Given the description of an element on the screen output the (x, y) to click on. 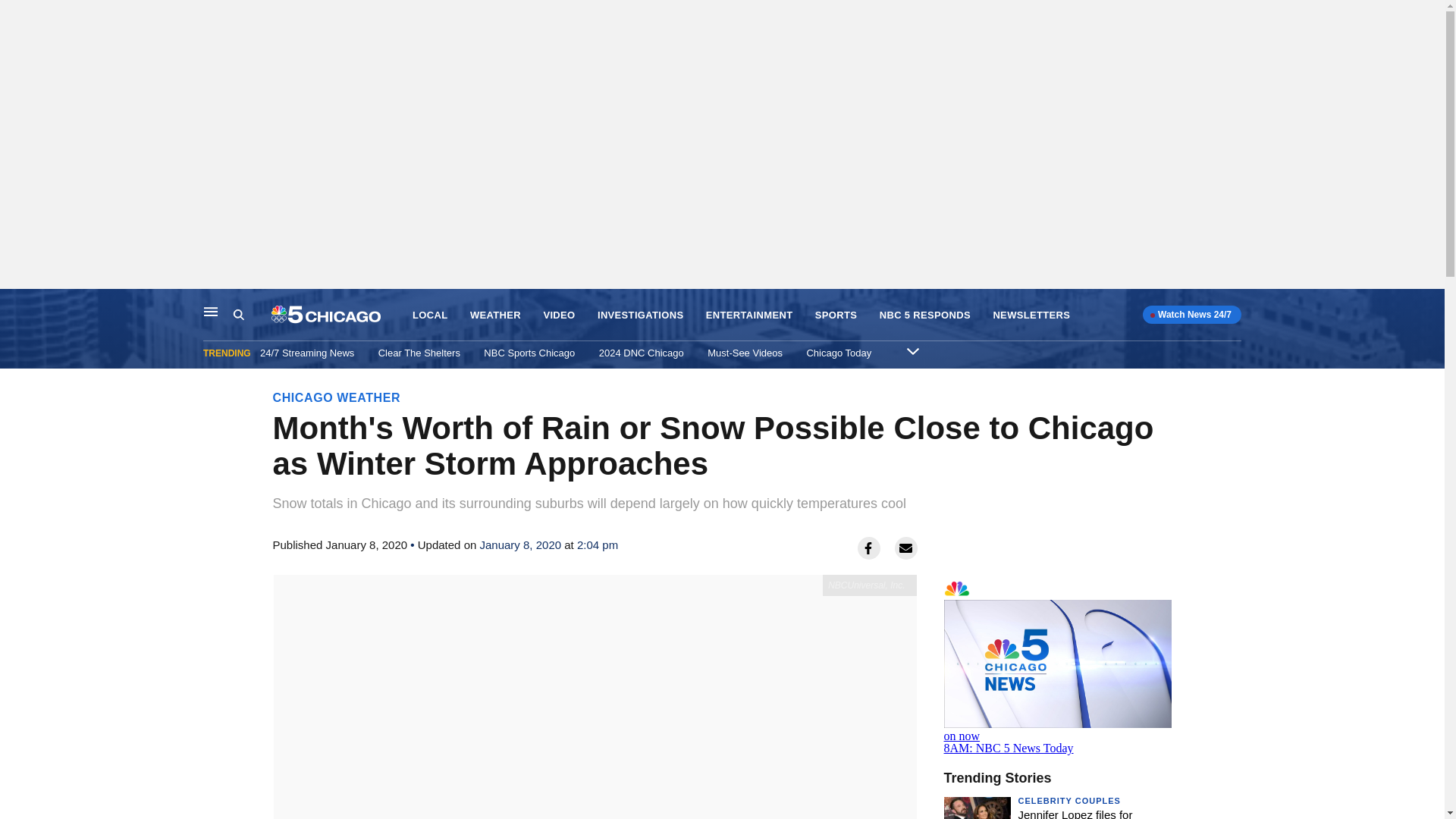
NEWSLETTERS (1031, 315)
NBC 5 RESPONDS (925, 315)
Main Navigation (210, 311)
Chicago Today (838, 352)
LOCAL (429, 315)
INVESTIGATIONS (639, 315)
CELEBRITY COUPLES (1068, 800)
Must-See Videos (745, 352)
Search (252, 314)
Clear The Shelters (419, 352)
